Given the description of an element on the screen output the (x, y) to click on. 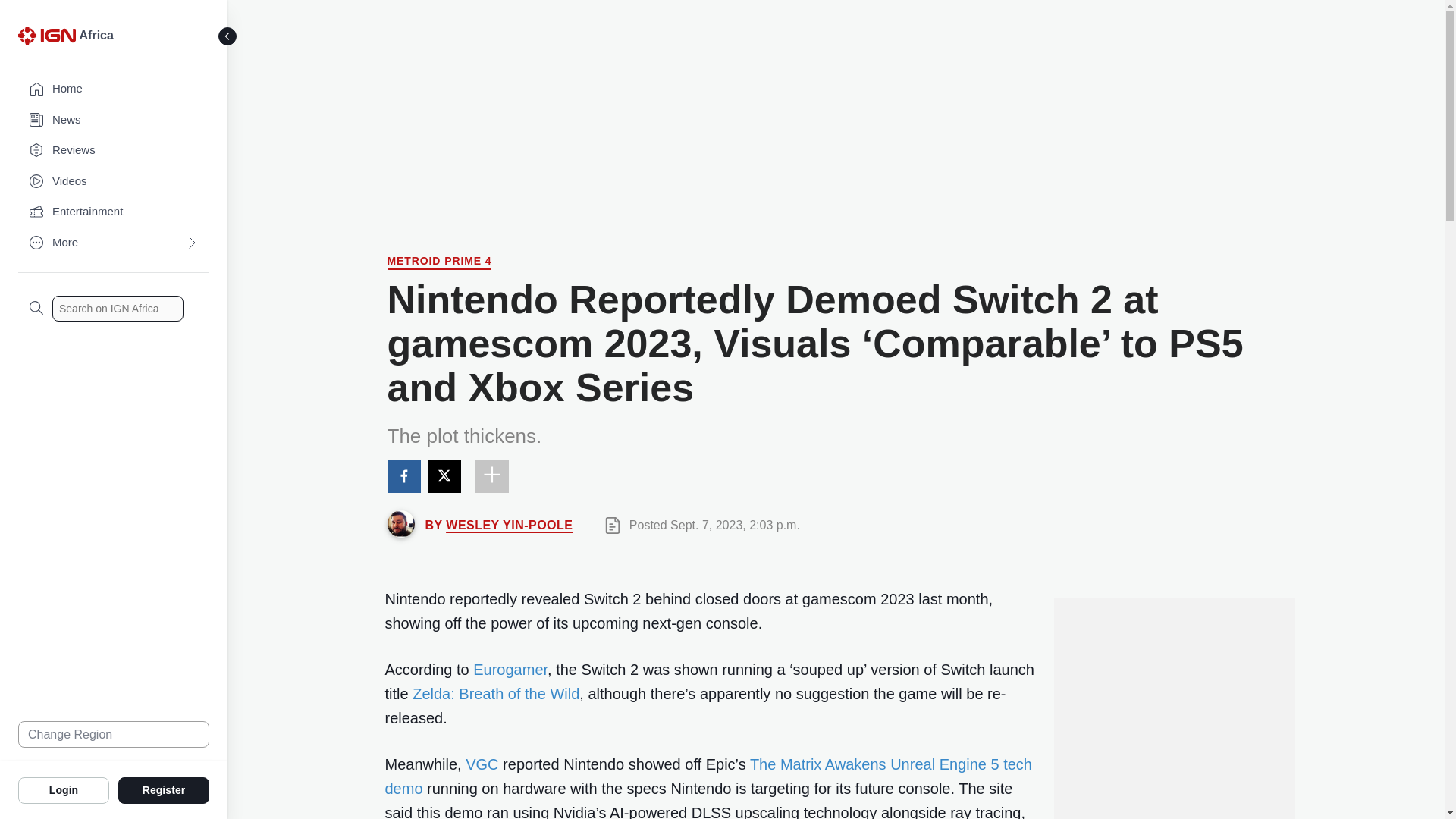
Metroid Prime 4 (439, 262)
Eurogamer (510, 669)
Videos (113, 181)
The Matrix Awakens Unreal Engine 5 tech demo (708, 775)
News (113, 119)
Home (113, 89)
WESLEY YIN-POOLE (508, 524)
IGN Logo (46, 34)
Toggle Sidebar (226, 36)
Login (63, 789)
